Given the description of an element on the screen output the (x, y) to click on. 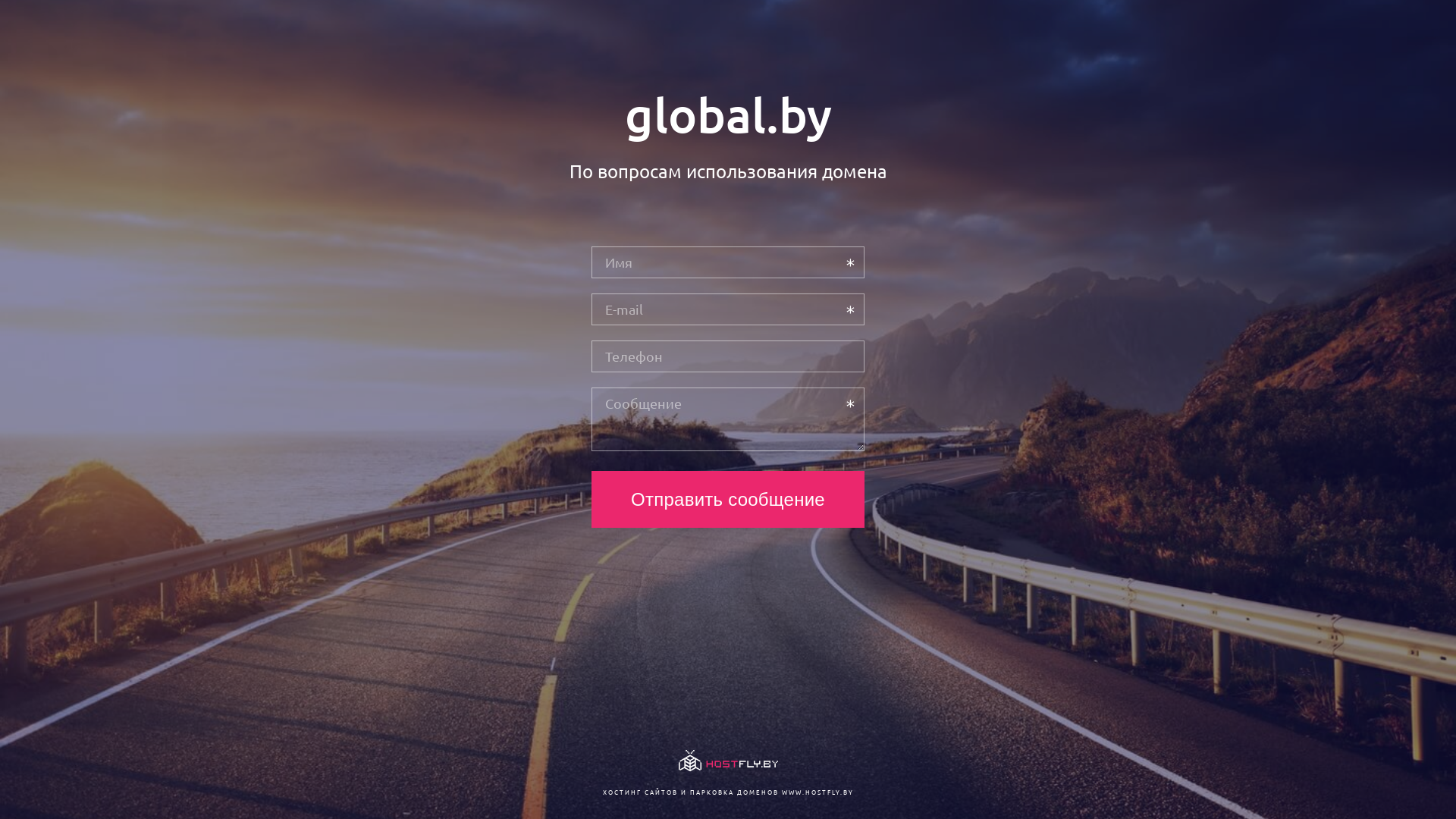
WWW.HOSTFLY.BY Element type: text (817, 791)
